Given the description of an element on the screen output the (x, y) to click on. 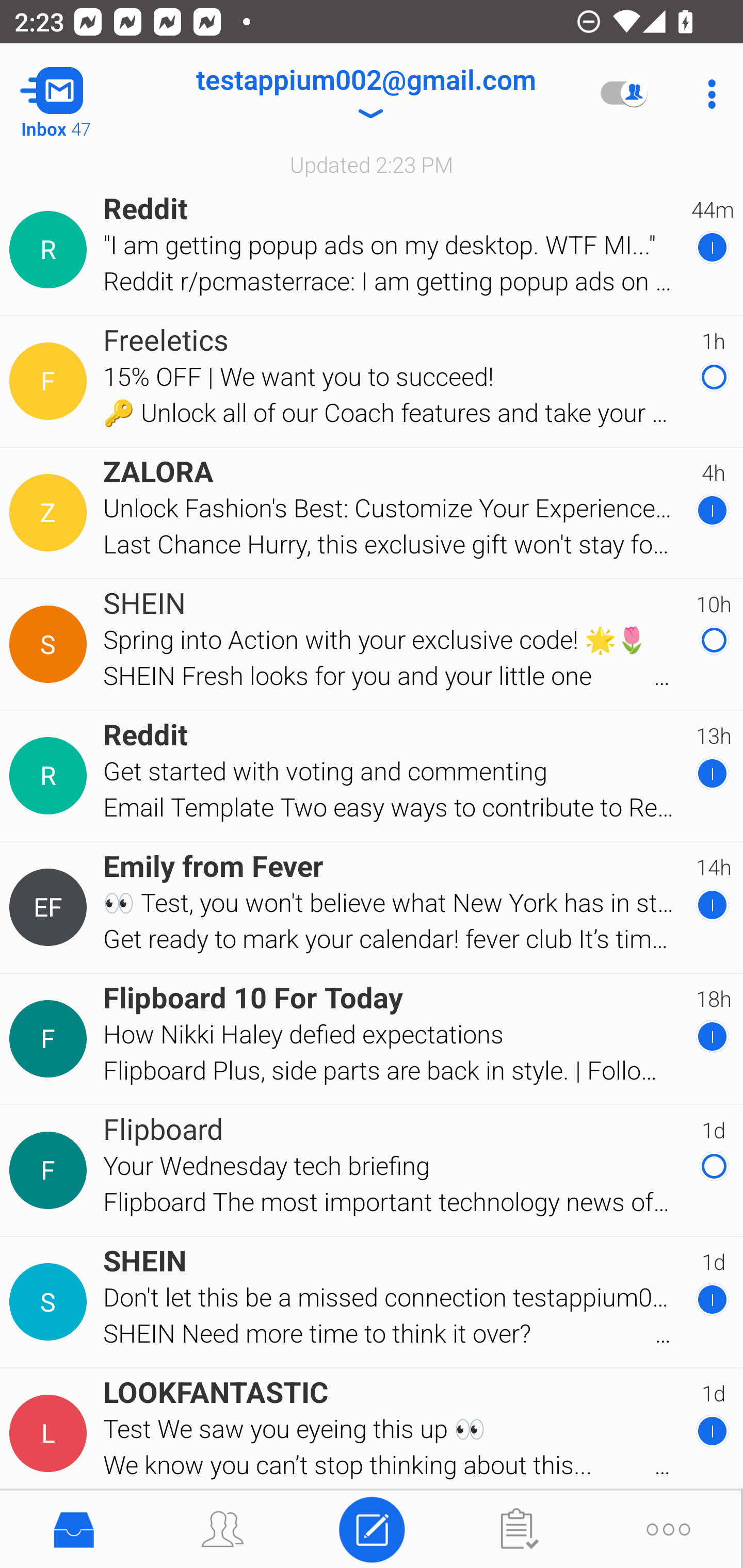
Navigate up (81, 93)
testappium002@gmail.com (365, 93)
More Options (706, 93)
Updated 2:23 PM (371, 164)
Contact Details (50, 250)
Contact Details (50, 381)
Contact Details (50, 513)
Contact Details (50, 644)
Contact Details (50, 776)
Contact Details (50, 907)
Contact Details (50, 1038)
Contact Details (50, 1170)
Contact Details (50, 1302)
Contact Details (50, 1433)
